Given the description of an element on the screen output the (x, y) to click on. 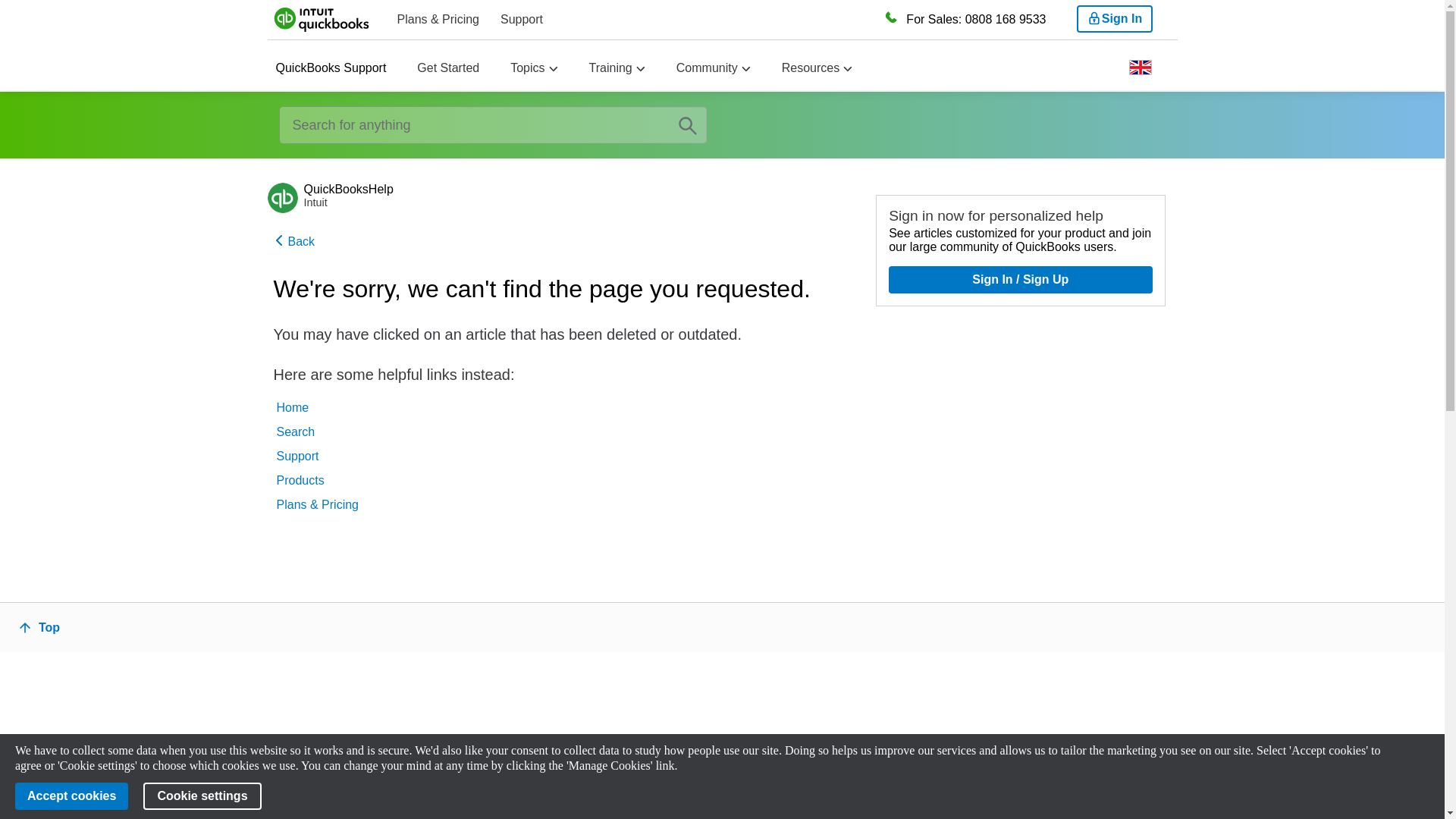
Support (521, 19)
btn-flag-nav (1139, 70)
Topics (527, 67)
QuickBooks Support (331, 67)
main-flag (1139, 67)
Sign In (1115, 17)
Get Started (447, 67)
